Given the description of an element on the screen output the (x, y) to click on. 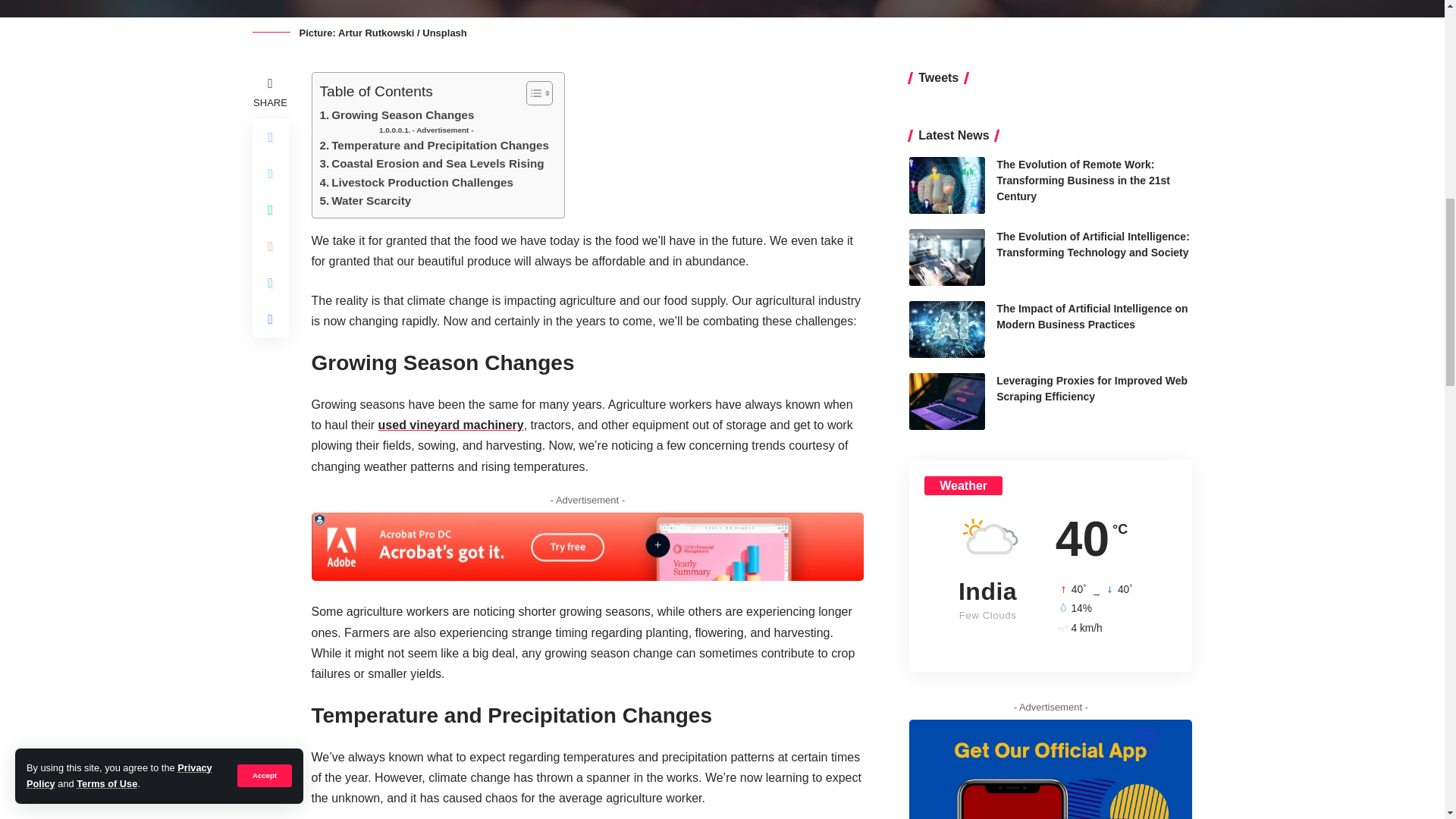
Growing Season Changes (397, 115)
Coastal Erosion and Sea Levels Rising (432, 163)
Temperature and Precipitation Changes (434, 145)
Livestock Production Challenges (416, 182)
Water Scarcity (366, 200)
- Advertisement - (426, 130)
